Given the description of an element on the screen output the (x, y) to click on. 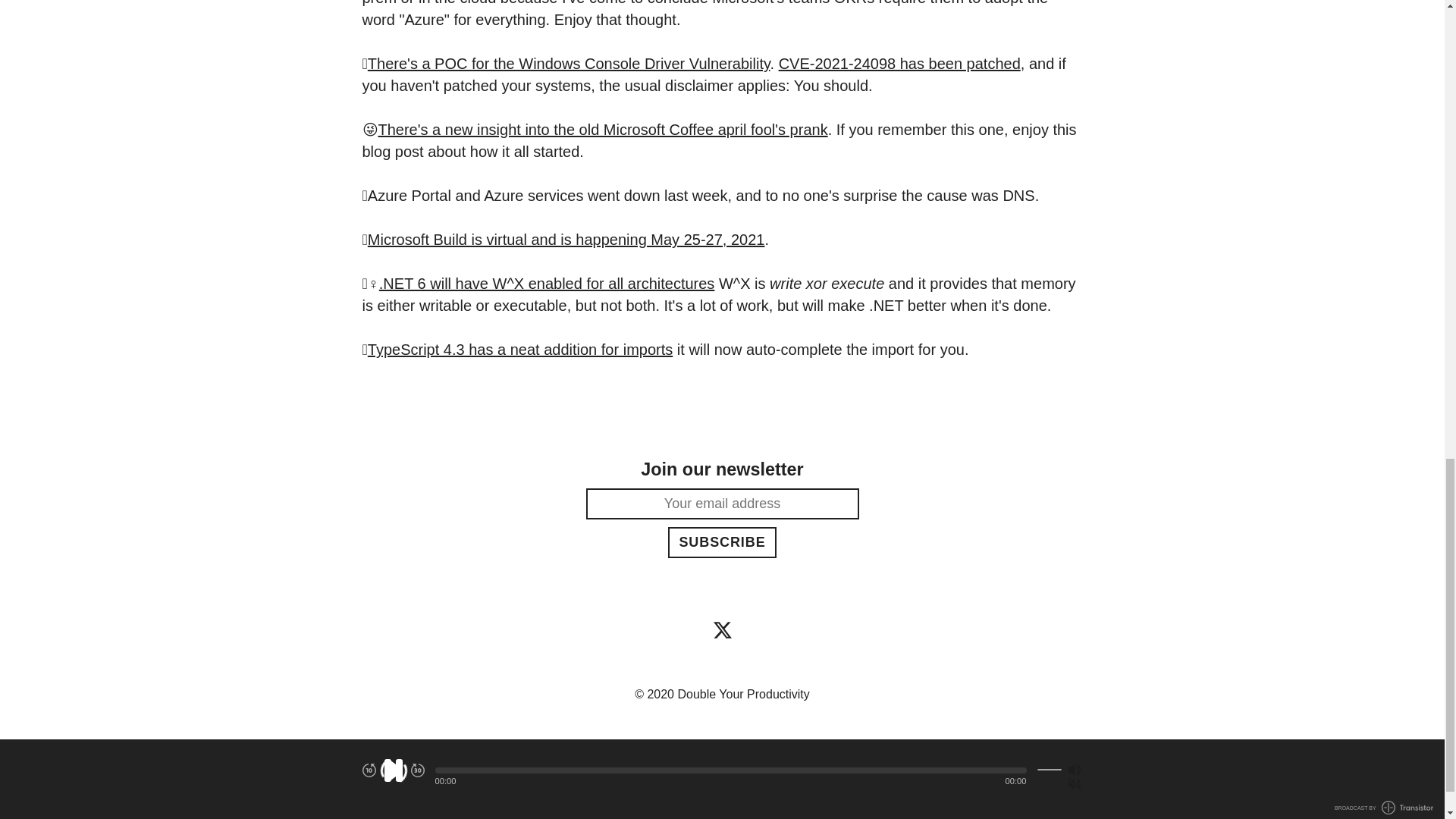
TypeScript 4.3 has a neat addition for imports (520, 349)
CVE-2021-24098 has been patched (899, 63)
X (721, 629)
SUBSCRIBE (722, 542)
View Last Week in .NET on Twitter (721, 629)
X (721, 629)
There's a POC for the Windows Console Driver Vulnerability (569, 63)
Microsoft Build is virtual and is happening May 25-27, 2021 (566, 239)
